Given the description of an element on the screen output the (x, y) to click on. 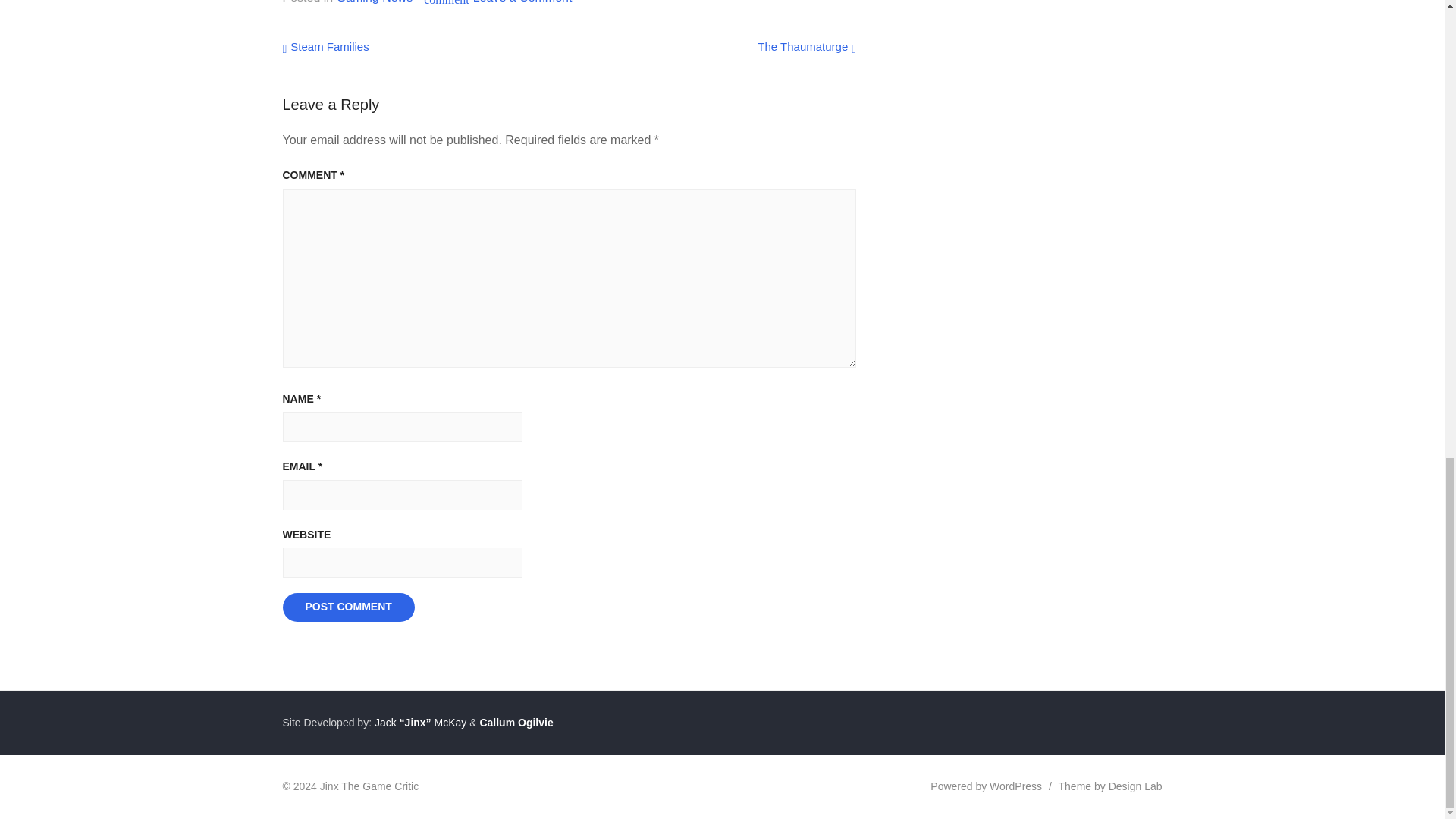
McKay (450, 722)
Callum Ogilvie (516, 722)
Jack (383, 722)
The Thaumaturge (806, 46)
Theme by Design Lab (1109, 786)
Steam Families (325, 46)
Powered by WordPress (986, 786)
Gaming News (374, 2)
Post Comment (347, 606)
Post Comment (347, 606)
